Given the description of an element on the screen output the (x, y) to click on. 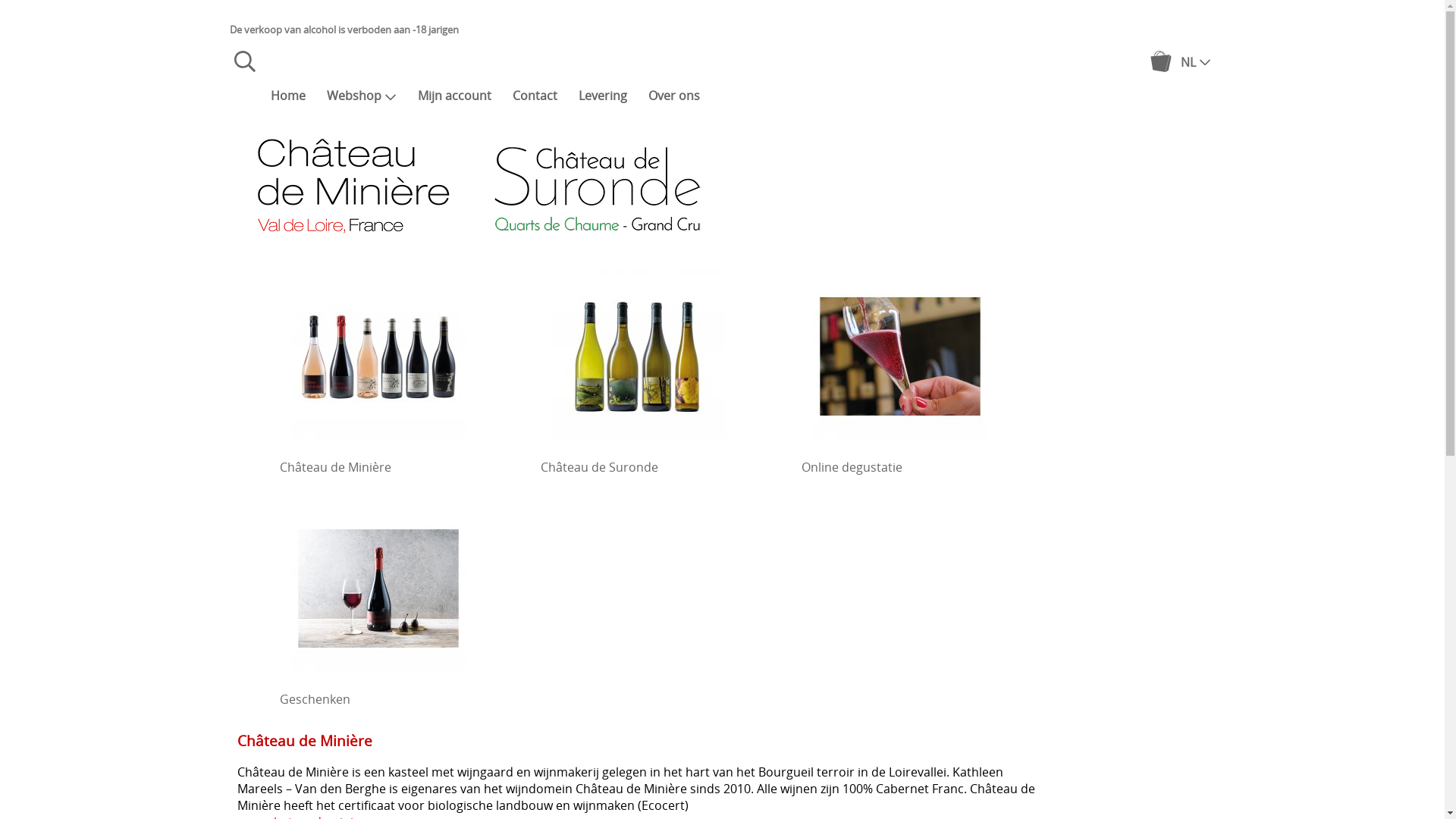
Contact Element type: text (534, 95)
Webshop Element type: text (360, 95)
Zoeken Element type: text (243, 67)
Home Element type: text (287, 95)
Online degustatie Element type: text (898, 368)
Levering Element type: text (602, 95)
Geschenken Element type: text (377, 600)
NL Element type: text (1194, 60)
Mijn account Element type: text (453, 95)
Over ons Element type: text (673, 95)
